Given the description of an element on the screen output the (x, y) to click on. 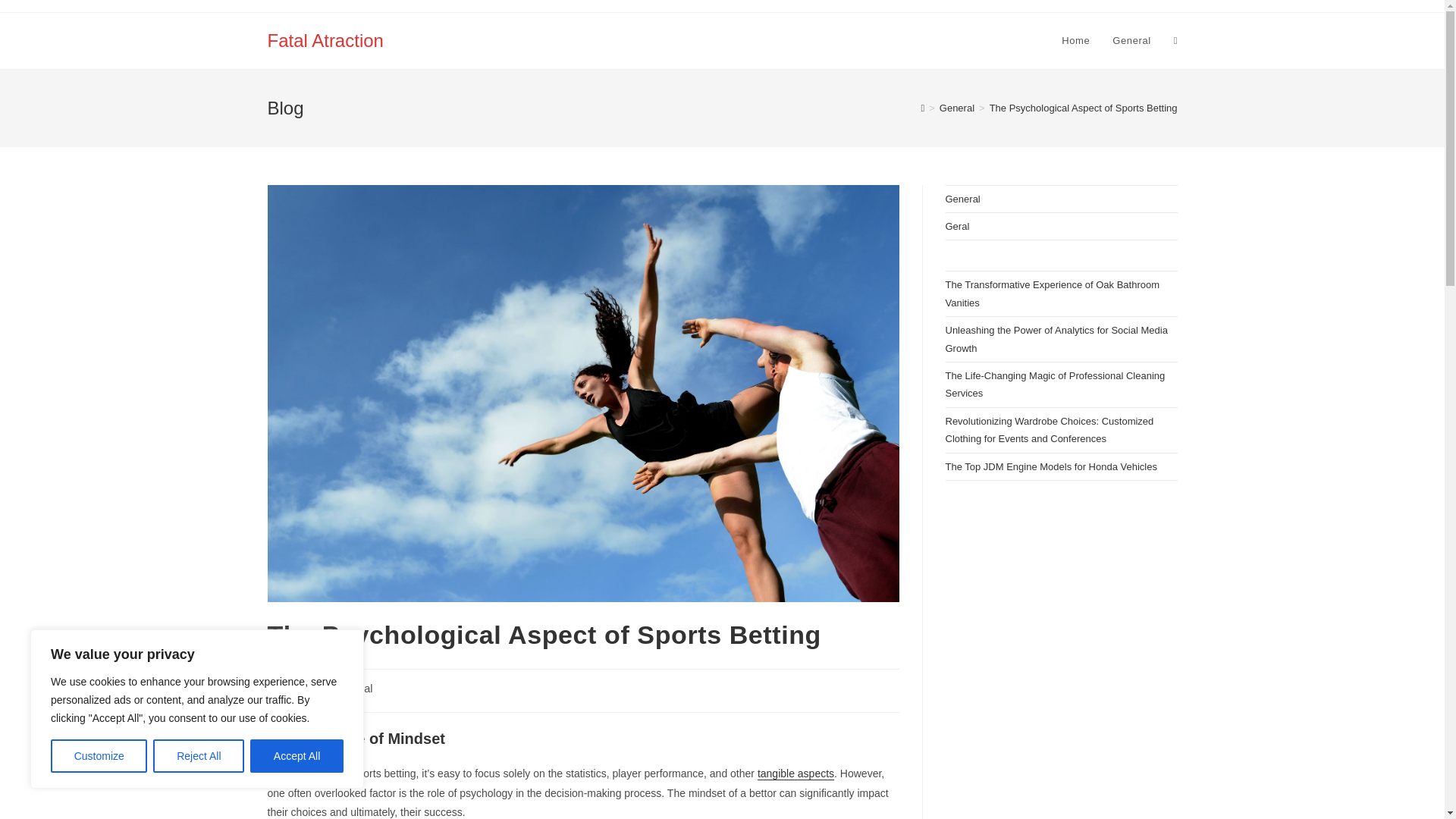
tangible aspects (795, 773)
Fatal Atraction (324, 40)
General (1130, 40)
General (352, 688)
General (956, 107)
Accept All (296, 756)
Reject All (198, 756)
Customize (98, 756)
Home (1074, 40)
The Psychological Aspect of Sports Betting (1083, 107)
